Given the description of an element on the screen output the (x, y) to click on. 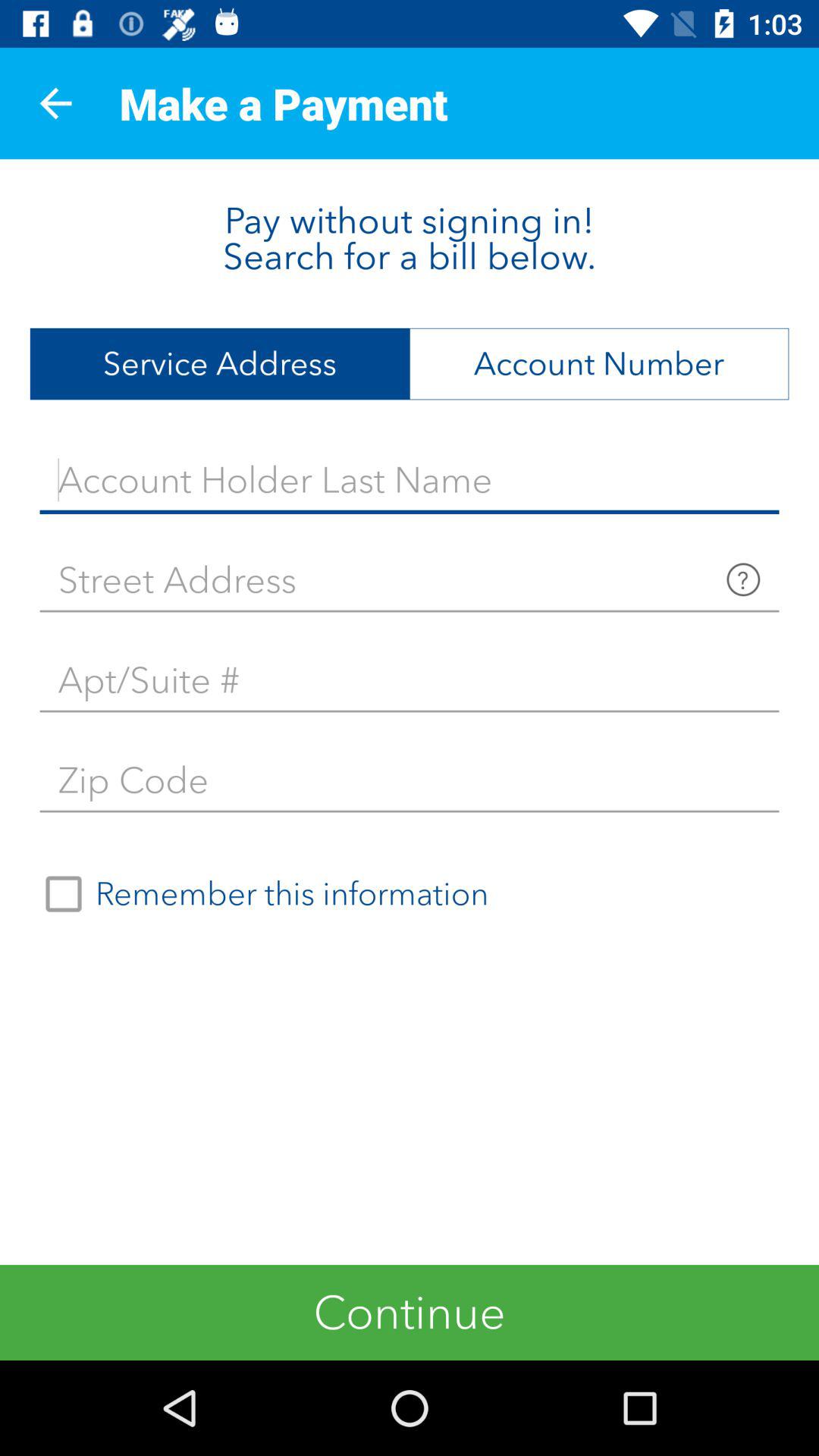
select the service address icon (219, 363)
